Given the description of an element on the screen output the (x, y) to click on. 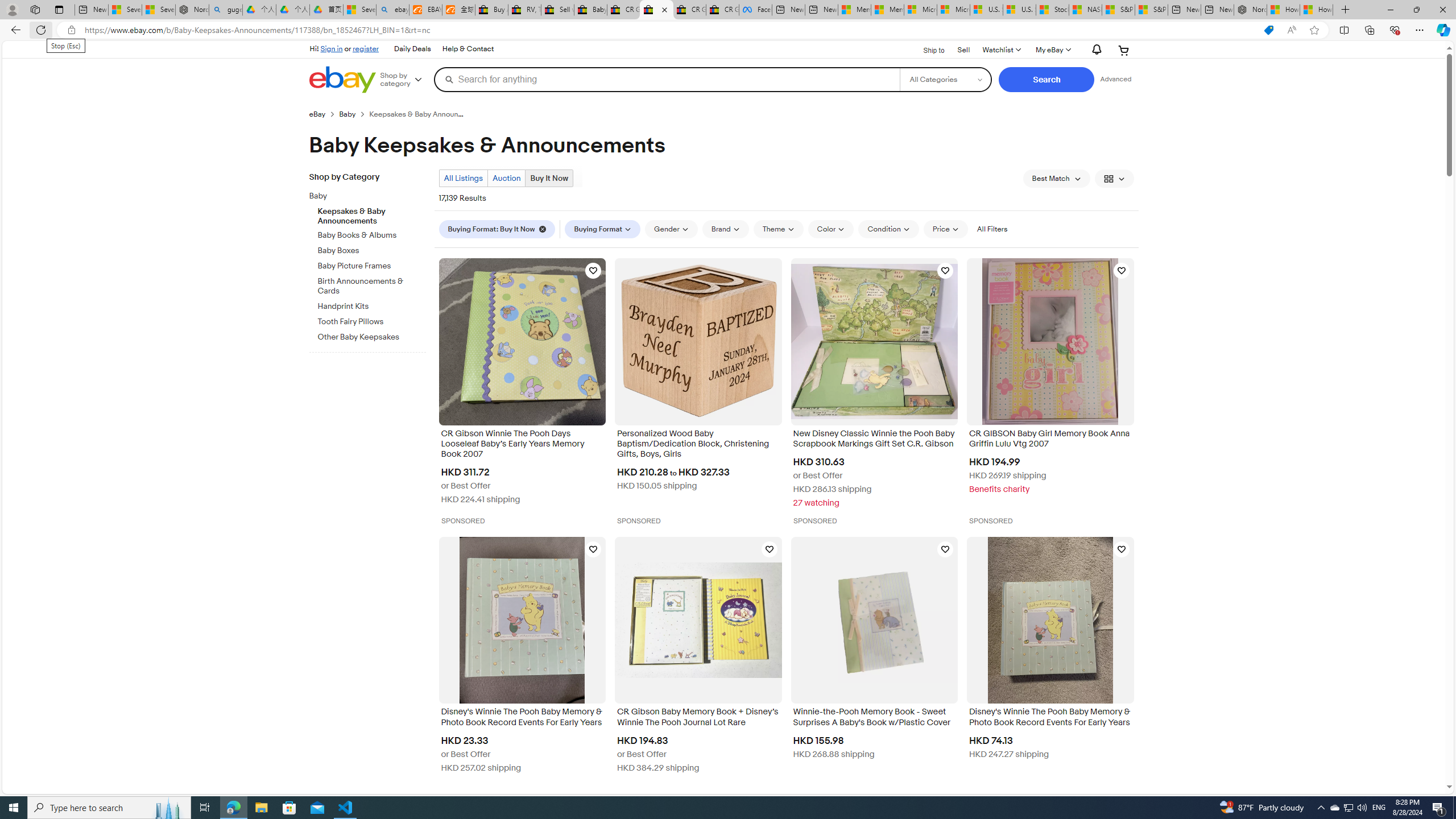
My eBayExpand My eBay (1052, 49)
New tab (1217, 9)
Theme (777, 229)
Refresh (40, 29)
Handprint Kits (371, 304)
Close tab (664, 9)
guge yunpan - Search (225, 9)
register (366, 48)
Browser essentials (1394, 29)
Condition (887, 229)
Condition (887, 229)
Buying Format (602, 229)
